Given the description of an element on the screen output the (x, y) to click on. 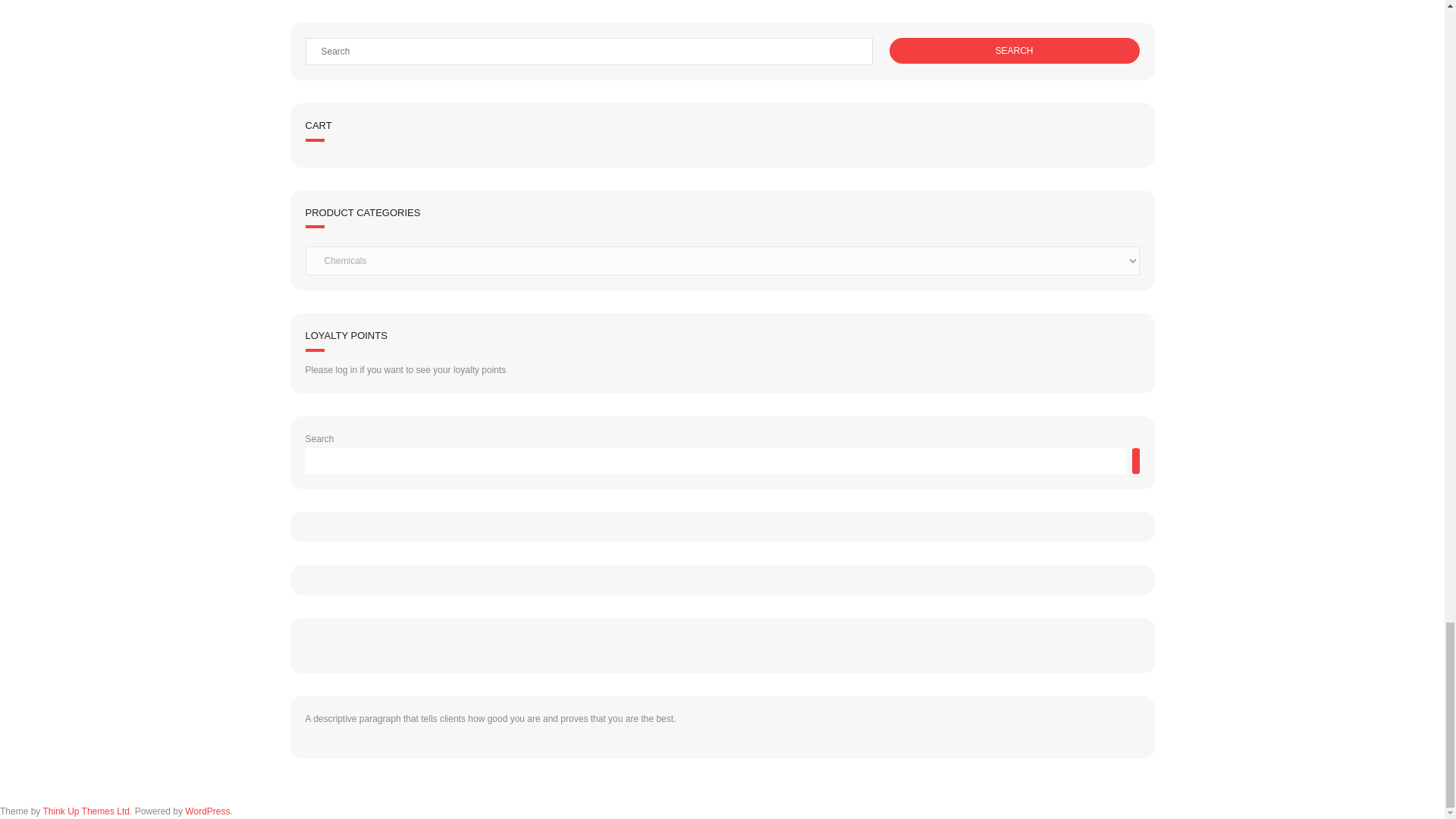
Search (1013, 50)
Search (1013, 50)
